Given the description of an element on the screen output the (x, y) to click on. 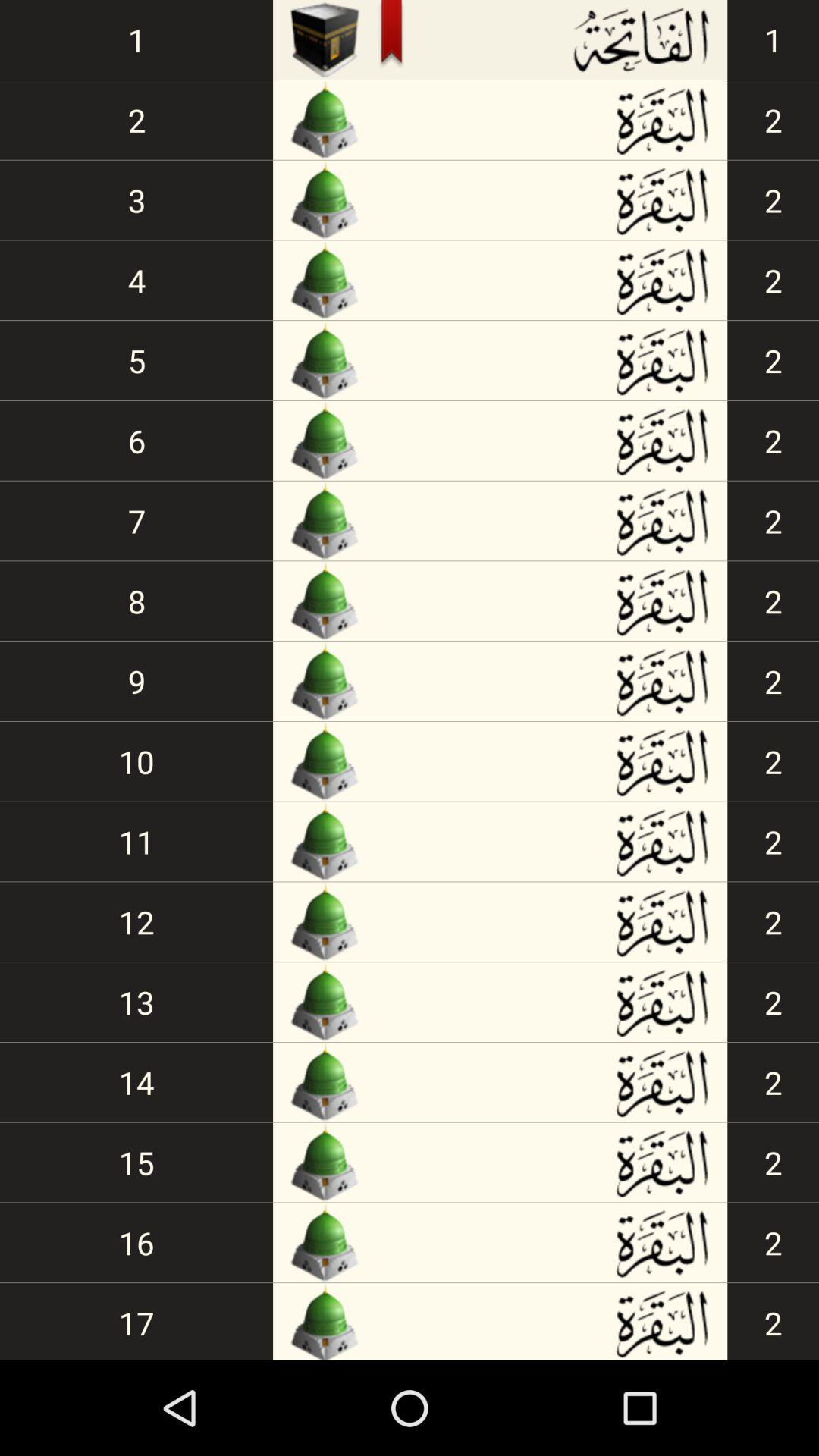
flip to 5 icon (136, 360)
